Given the description of an element on the screen output the (x, y) to click on. 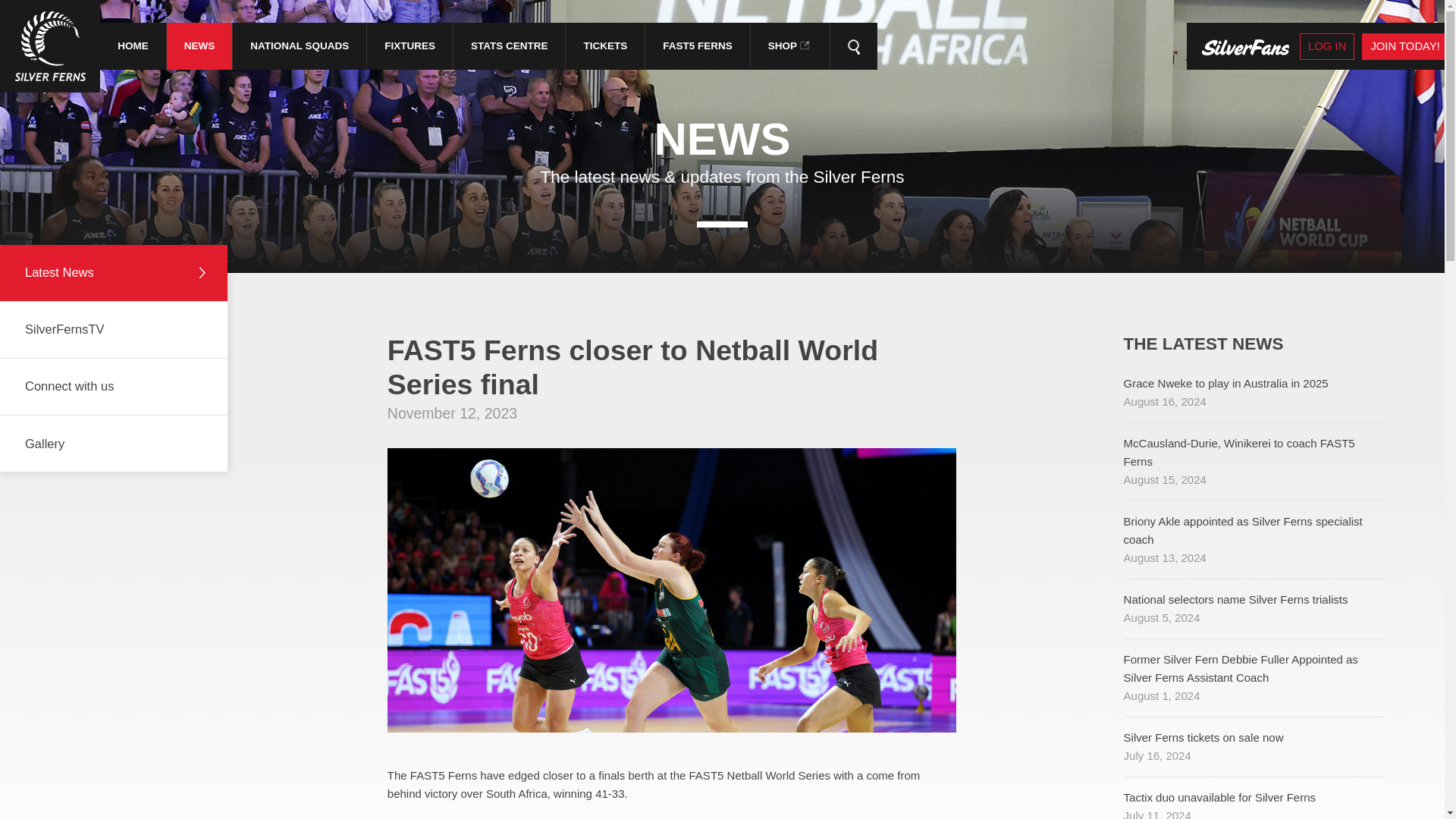
HOME (132, 45)
Latest News (113, 272)
LOG IN (1327, 46)
SilverFernsTV (113, 329)
Connect with us (1254, 391)
FAST5 FERNS (1254, 797)
